Given the description of an element on the screen output the (x, y) to click on. 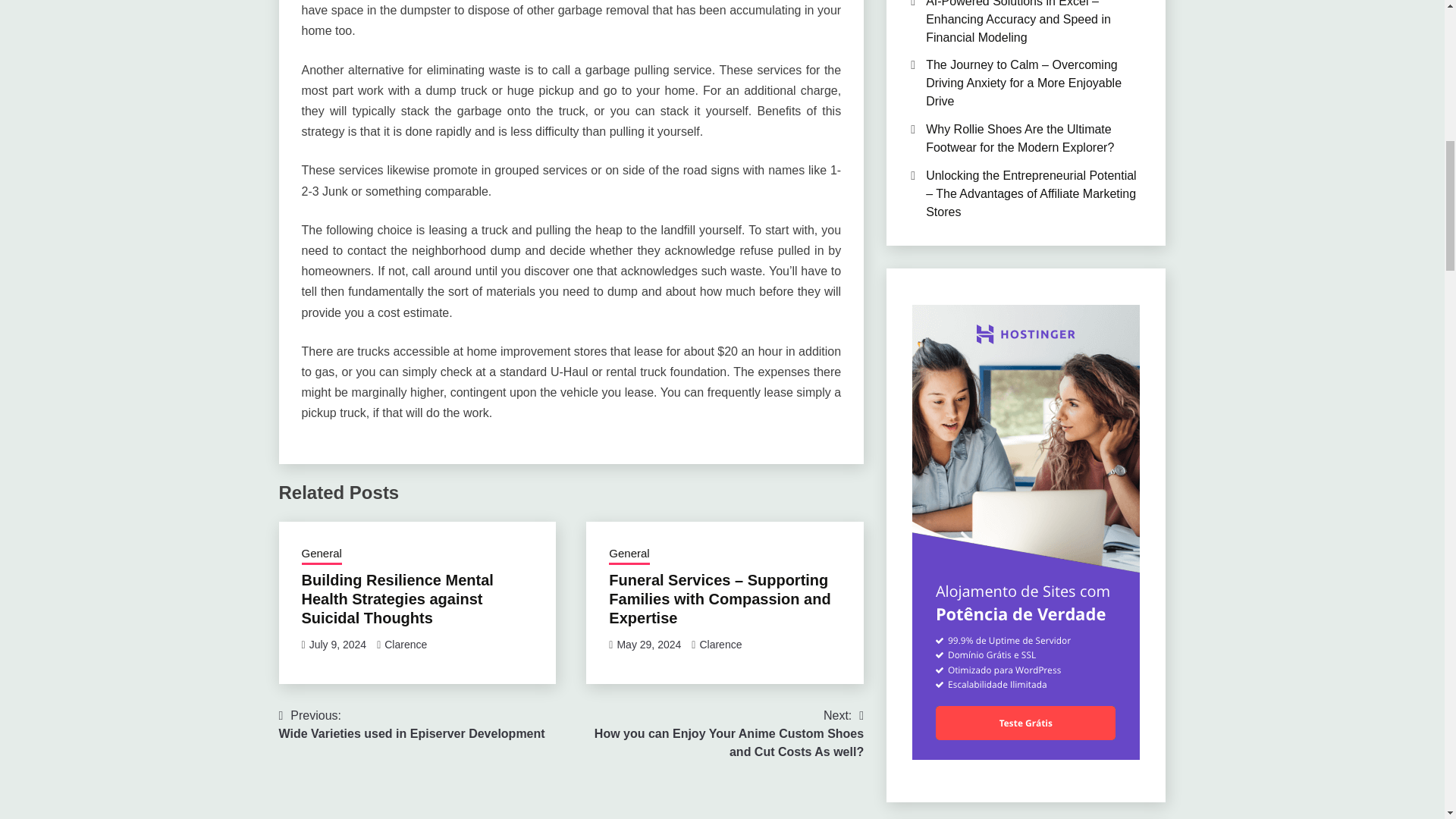
General (628, 555)
General (321, 555)
May 29, 2024 (648, 644)
Clarence (405, 644)
Clarence (411, 724)
July 9, 2024 (719, 644)
